Given the description of an element on the screen output the (x, y) to click on. 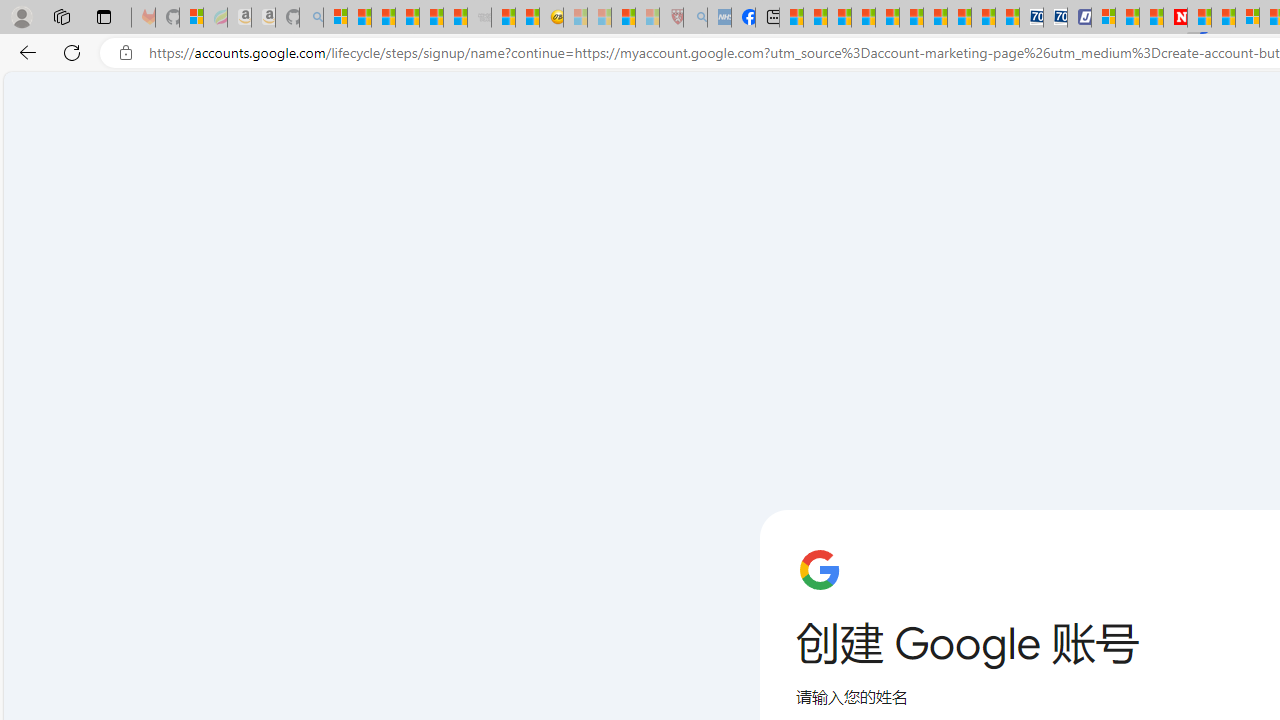
Combat Siege - Sleeping (479, 17)
The Weather Channel - MSN (383, 17)
Cheap Hotels - Save70.com (1055, 17)
